Given the description of an element on the screen output the (x, y) to click on. 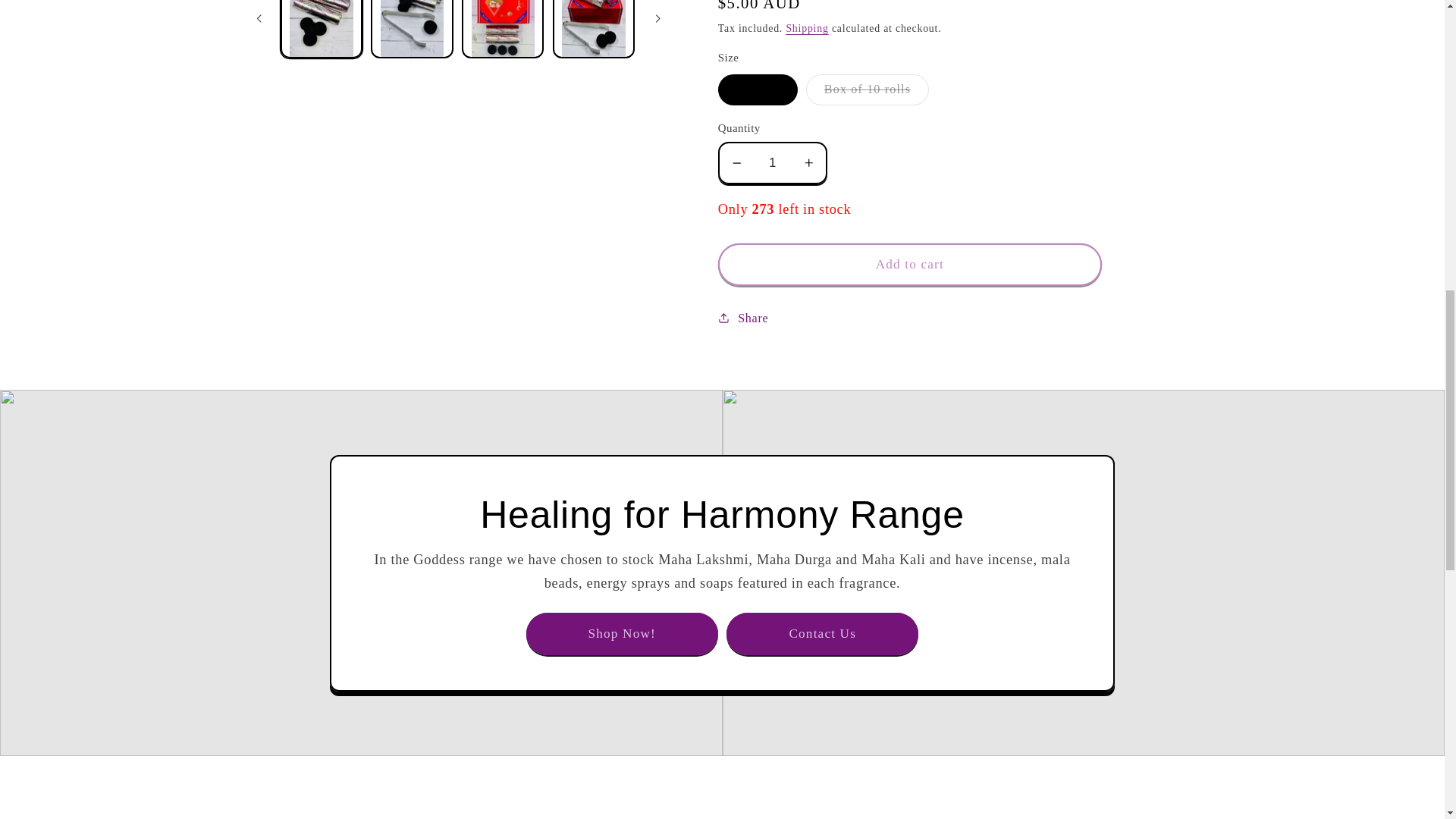
1 (773, 162)
